Given the description of an element on the screen output the (x, y) to click on. 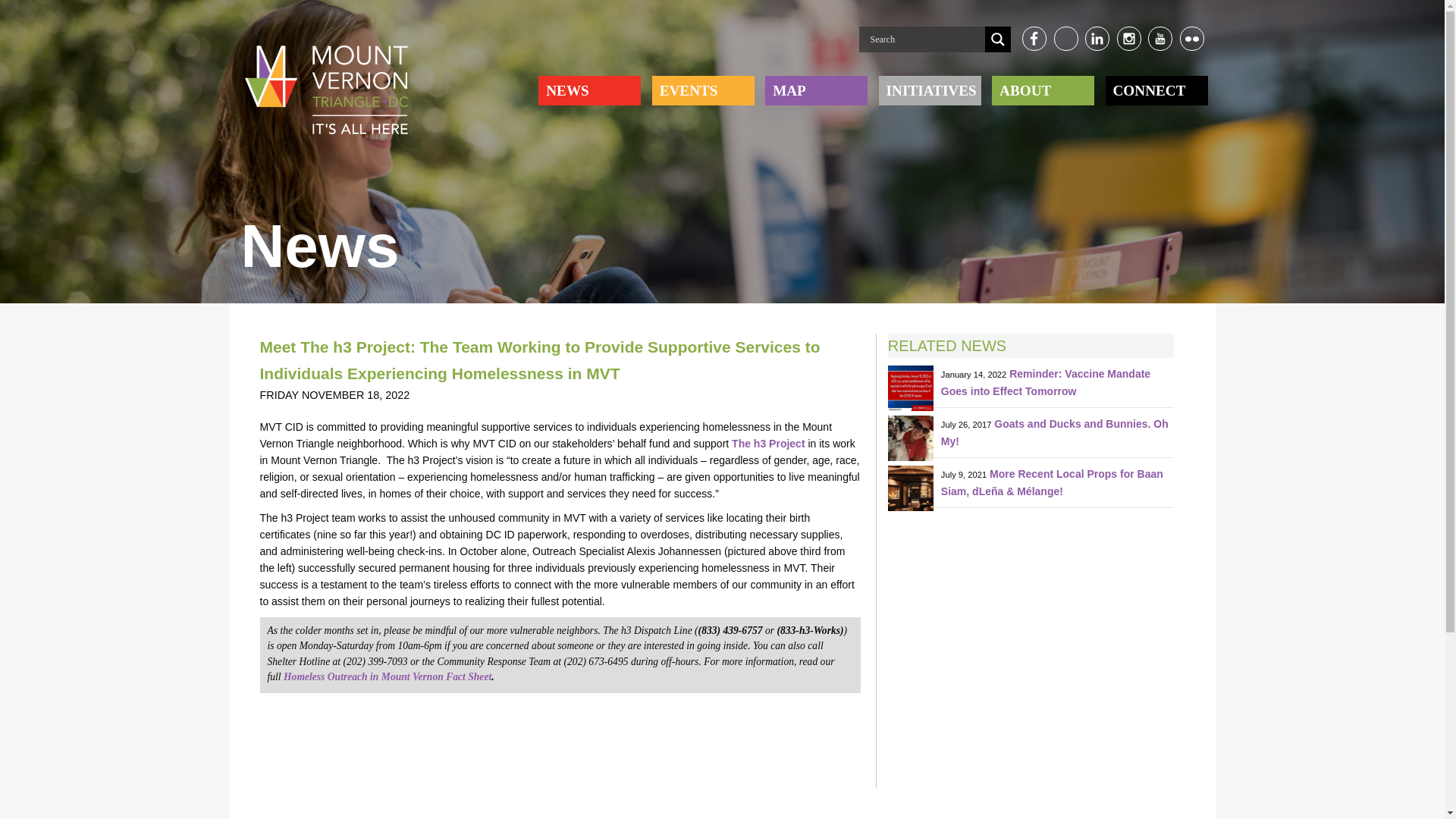
tw (1065, 38)
fb (1034, 38)
Ig (1129, 38)
EVENTS (702, 90)
NEWS (589, 90)
fl (1190, 38)
INITIATIVES (930, 90)
yt (1160, 38)
MAP (816, 90)
li (1097, 38)
